Given the description of an element on the screen output the (x, y) to click on. 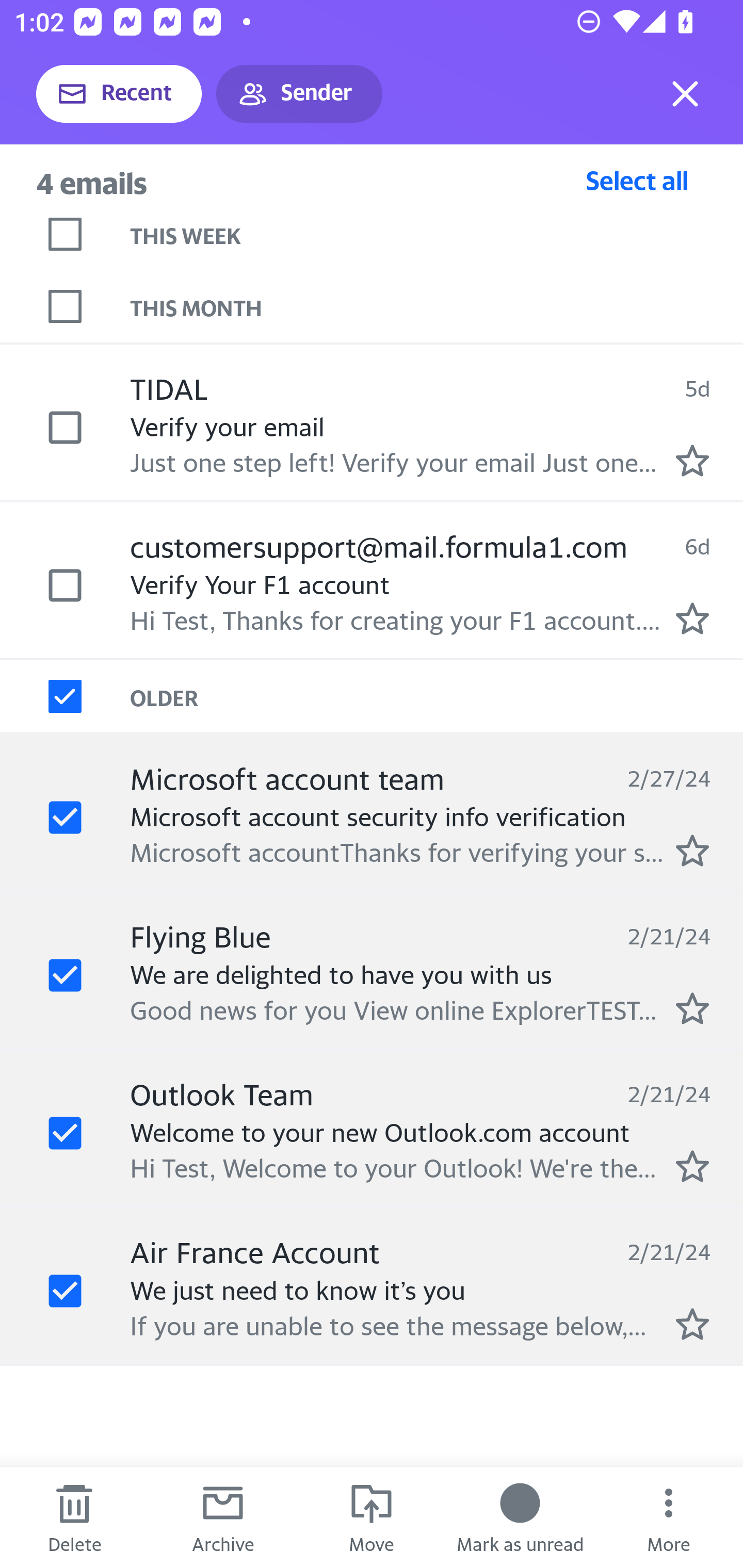
Sender (299, 93)
Exit selection mode (684, 93)
Select all (637, 180)
THIS MONTH (436, 306)
Mark as starred. (692, 460)
Mark as starred. (692, 618)
OLDER (436, 696)
Mark as starred. (692, 850)
Mark as starred. (692, 1008)
Mark as starred. (692, 1165)
Mark as starred. (692, 1324)
Delete (74, 1517)
Archive (222, 1517)
Move (371, 1517)
Mark as unread (519, 1517)
More (668, 1517)
